Given the description of an element on the screen output the (x, y) to click on. 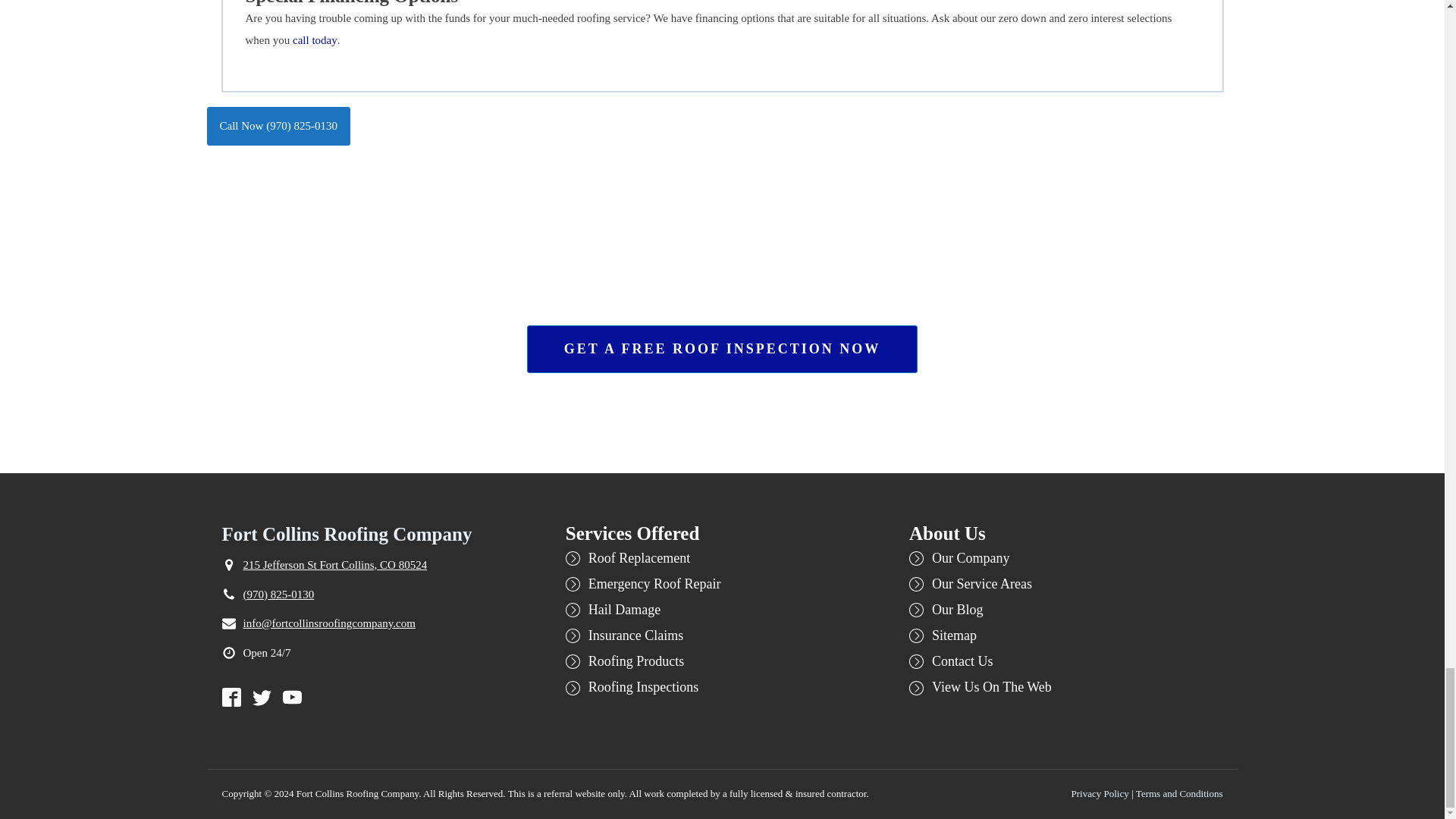
call today (314, 40)
215 Jefferson St Fort Collins, CO 80524 (334, 565)
GET A FREE ROOF INSPECTION NOW (722, 349)
